Given the description of an element on the screen output the (x, y) to click on. 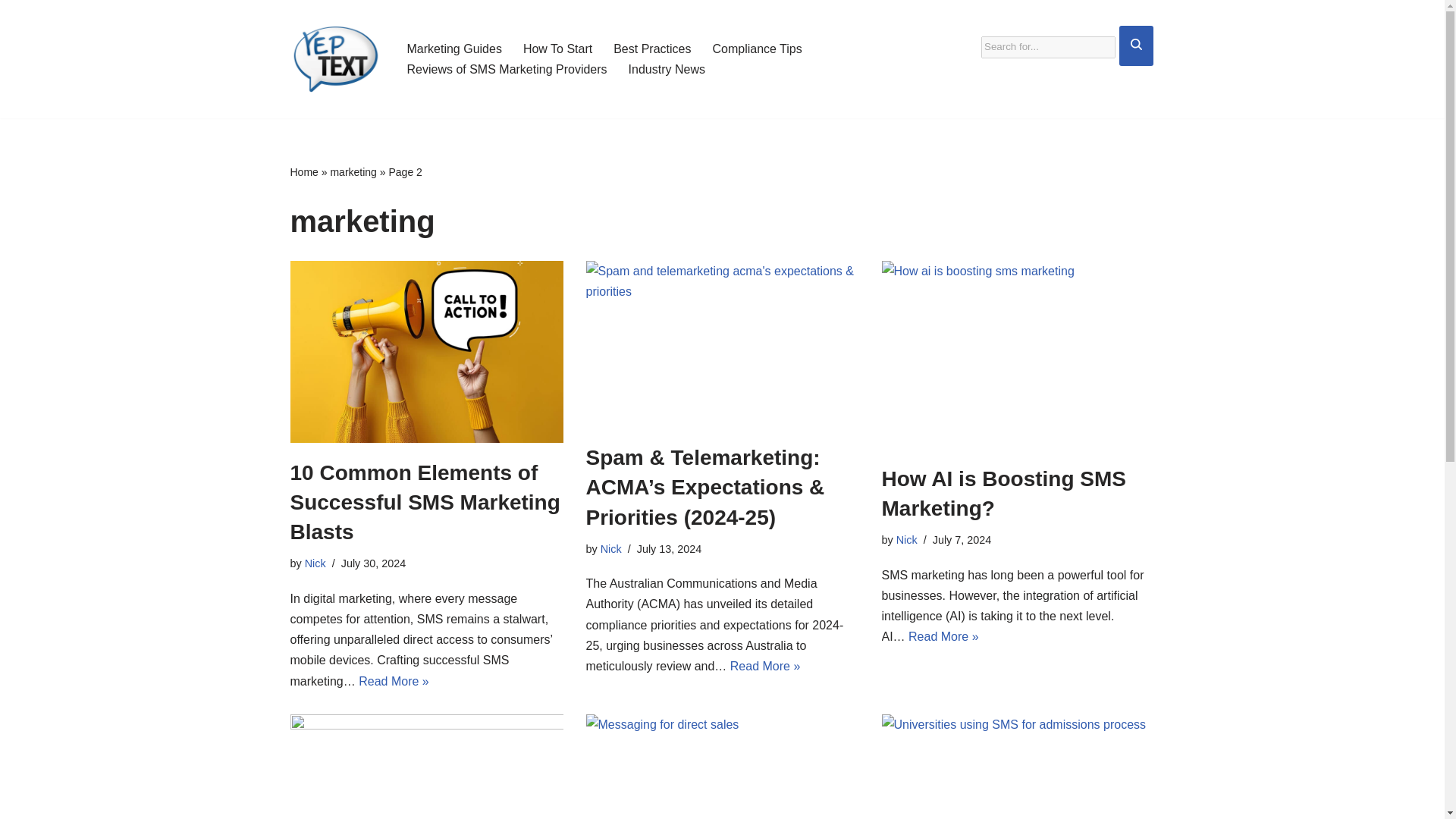
Posts by Nick (315, 563)
Marketing Guides (453, 48)
10 Common Elements of Successful SMS Marketing Blasts (424, 502)
Best Practices (651, 48)
marketing (352, 172)
Posts by Nick (610, 548)
Nick (906, 539)
Industry News (666, 68)
Skip to content (11, 31)
How To Start (557, 48)
